Given the description of an element on the screen output the (x, y) to click on. 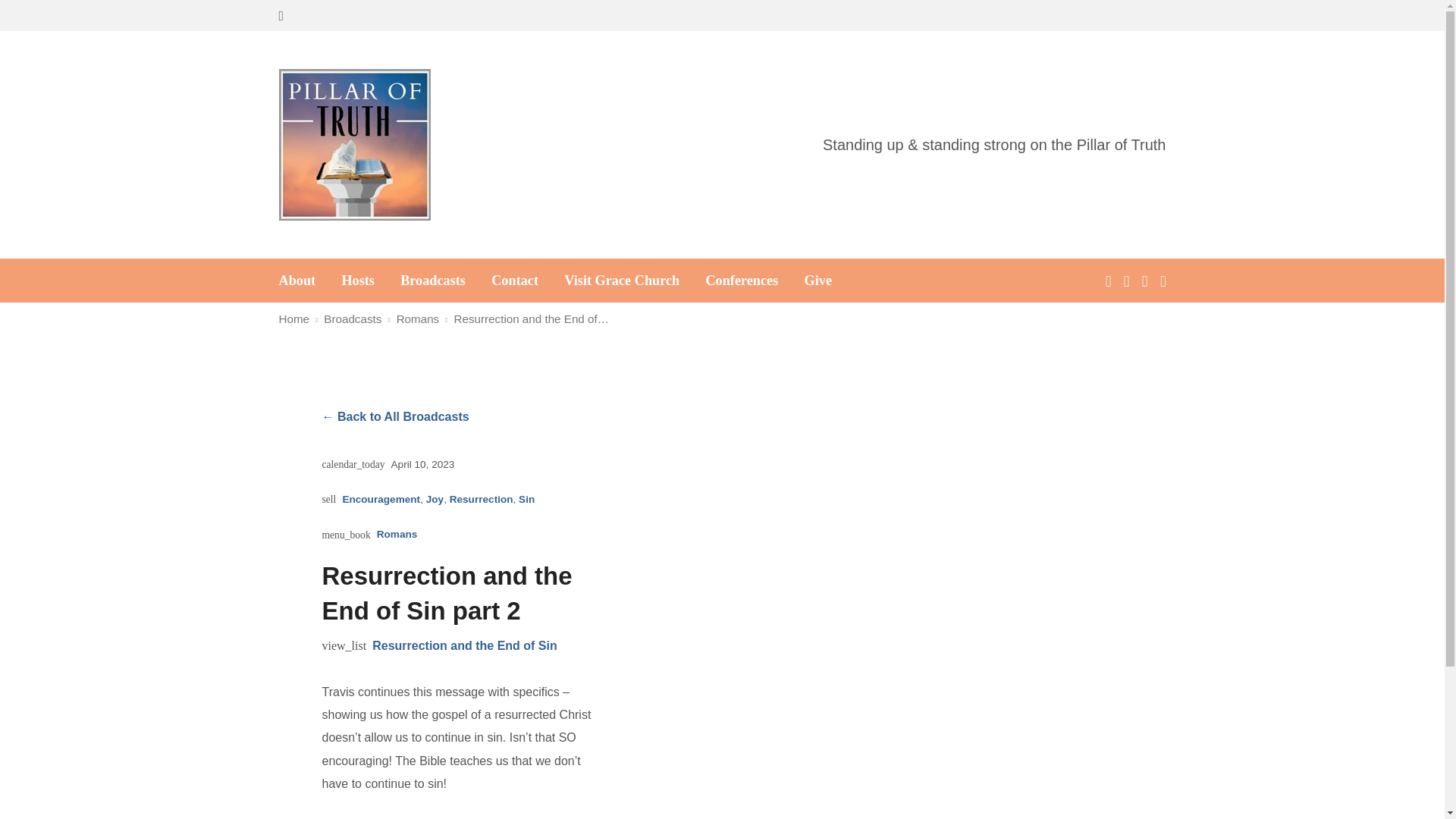
Home (294, 318)
Romans (417, 318)
Hosts (357, 280)
Romans (397, 534)
Visit Grace Church (621, 280)
Broadcasts (352, 318)
Contact (515, 280)
Conferences (740, 280)
Encouragement (381, 499)
Resurrection (481, 499)
